Given the description of an element on the screen output the (x, y) to click on. 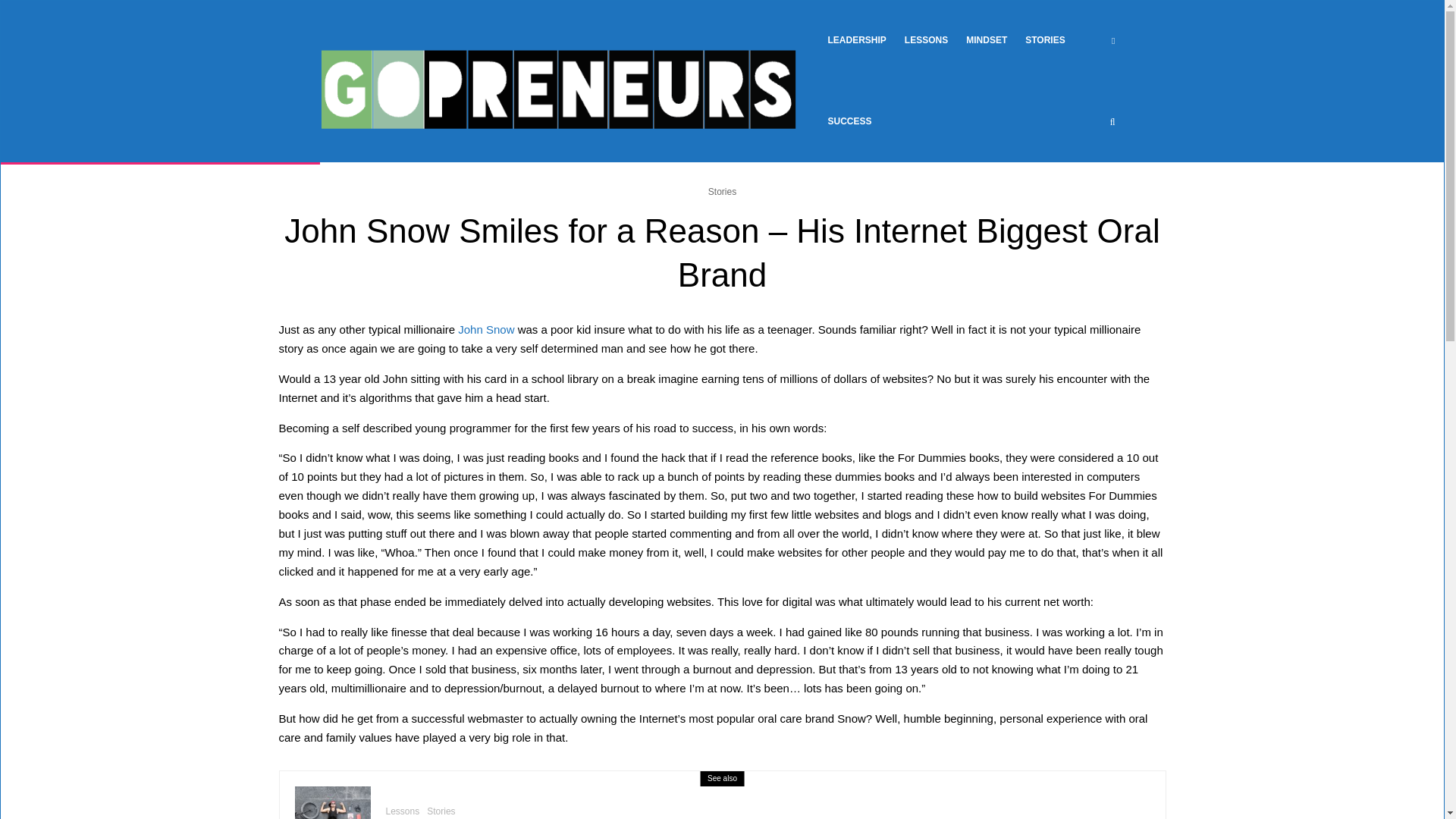
LEADERSHIP (856, 40)
